Given the description of an element on the screen output the (x, y) to click on. 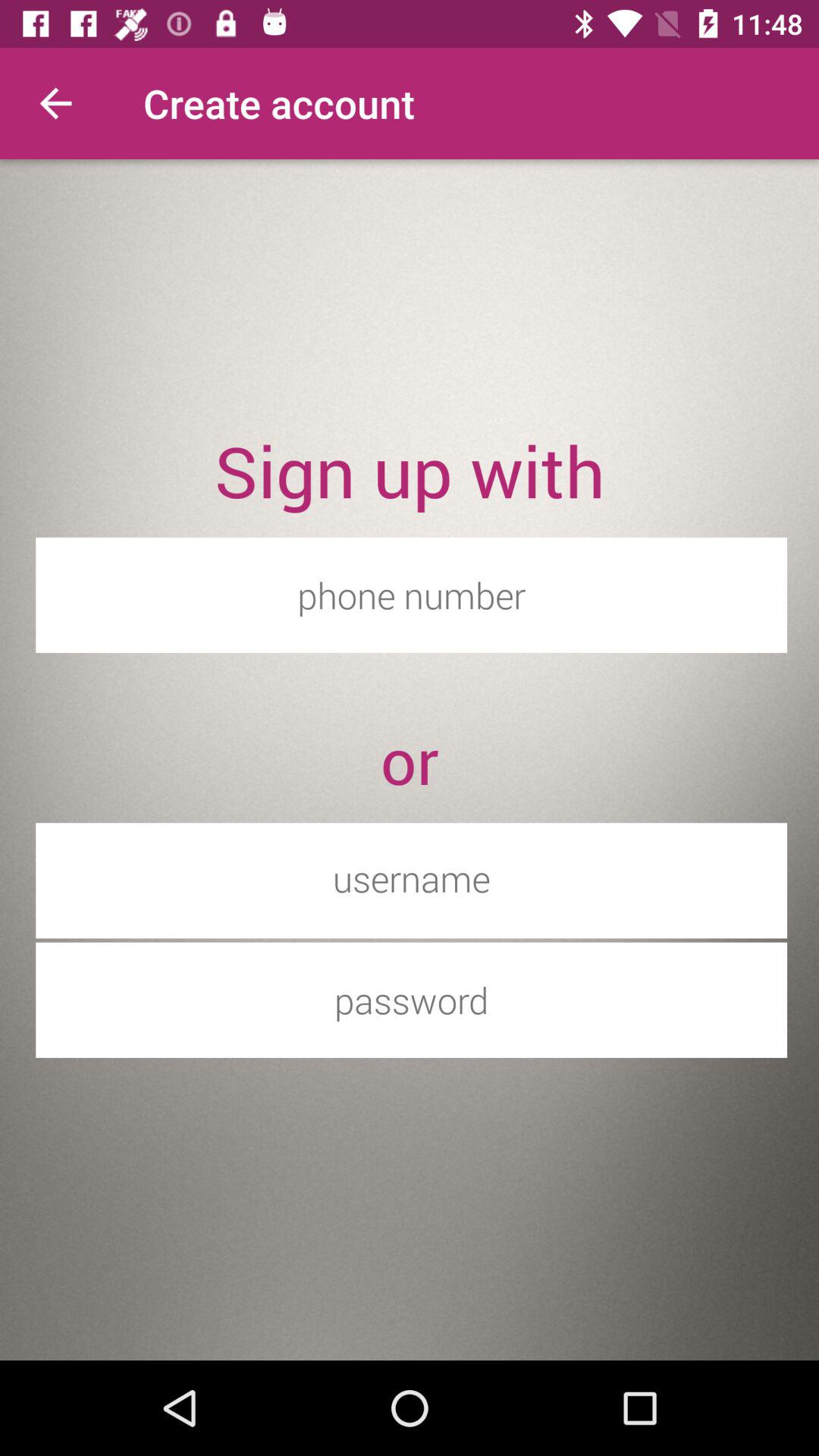
enter password (411, 999)
